Given the description of an element on the screen output the (x, y) to click on. 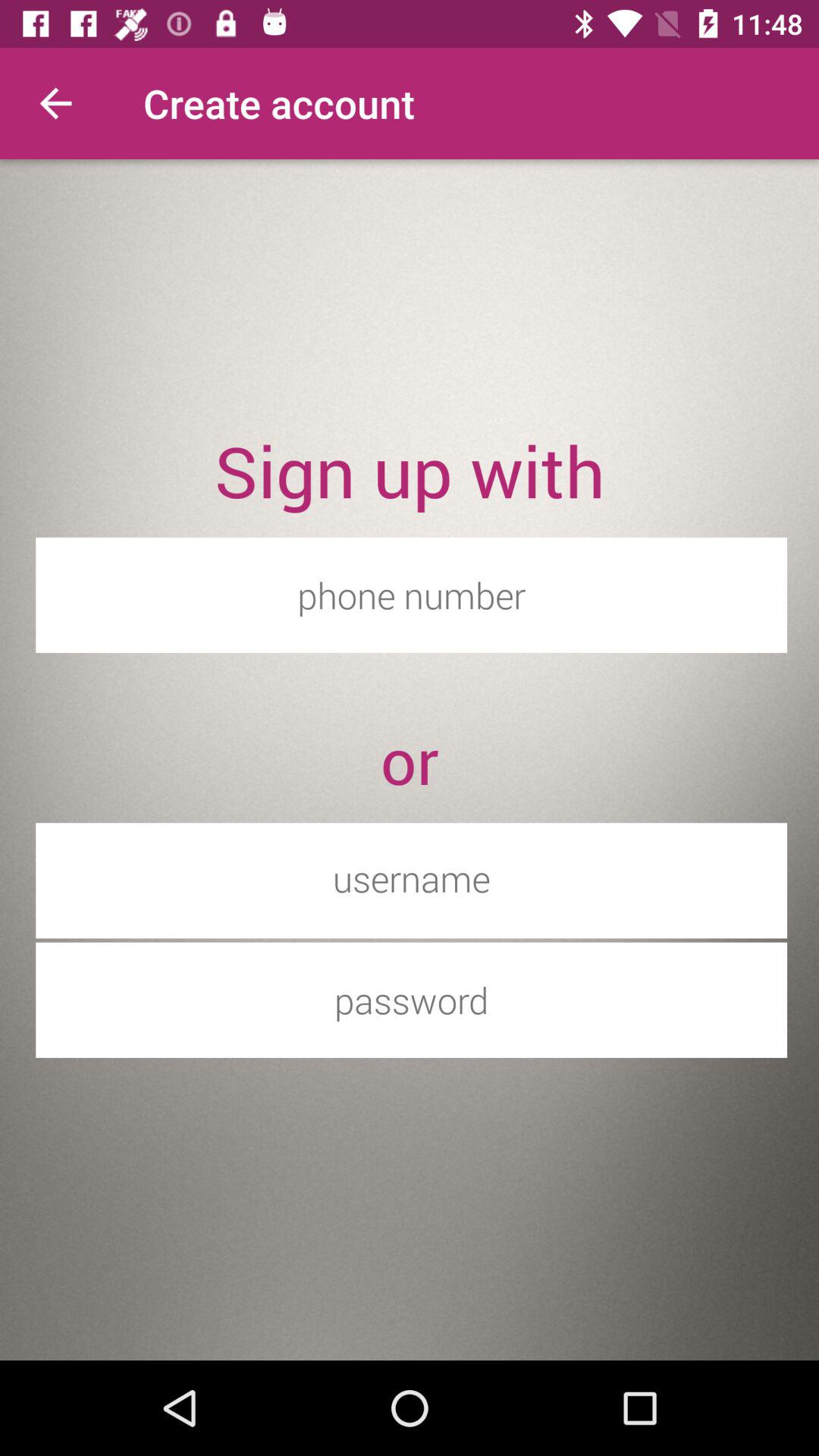
enter password (411, 999)
